Given the description of an element on the screen output the (x, y) to click on. 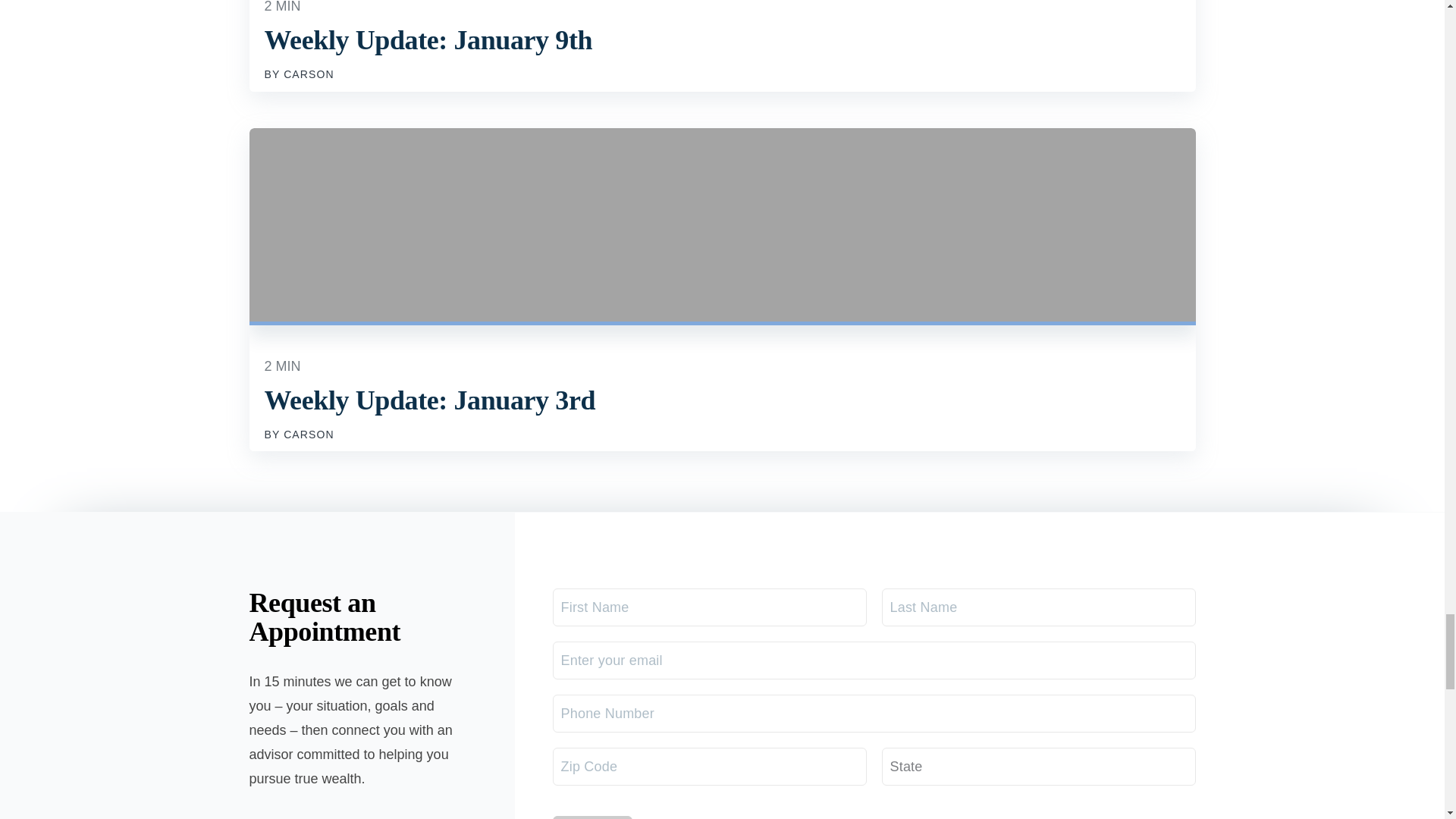
Submit (591, 817)
